Given the description of an element on the screen output the (x, y) to click on. 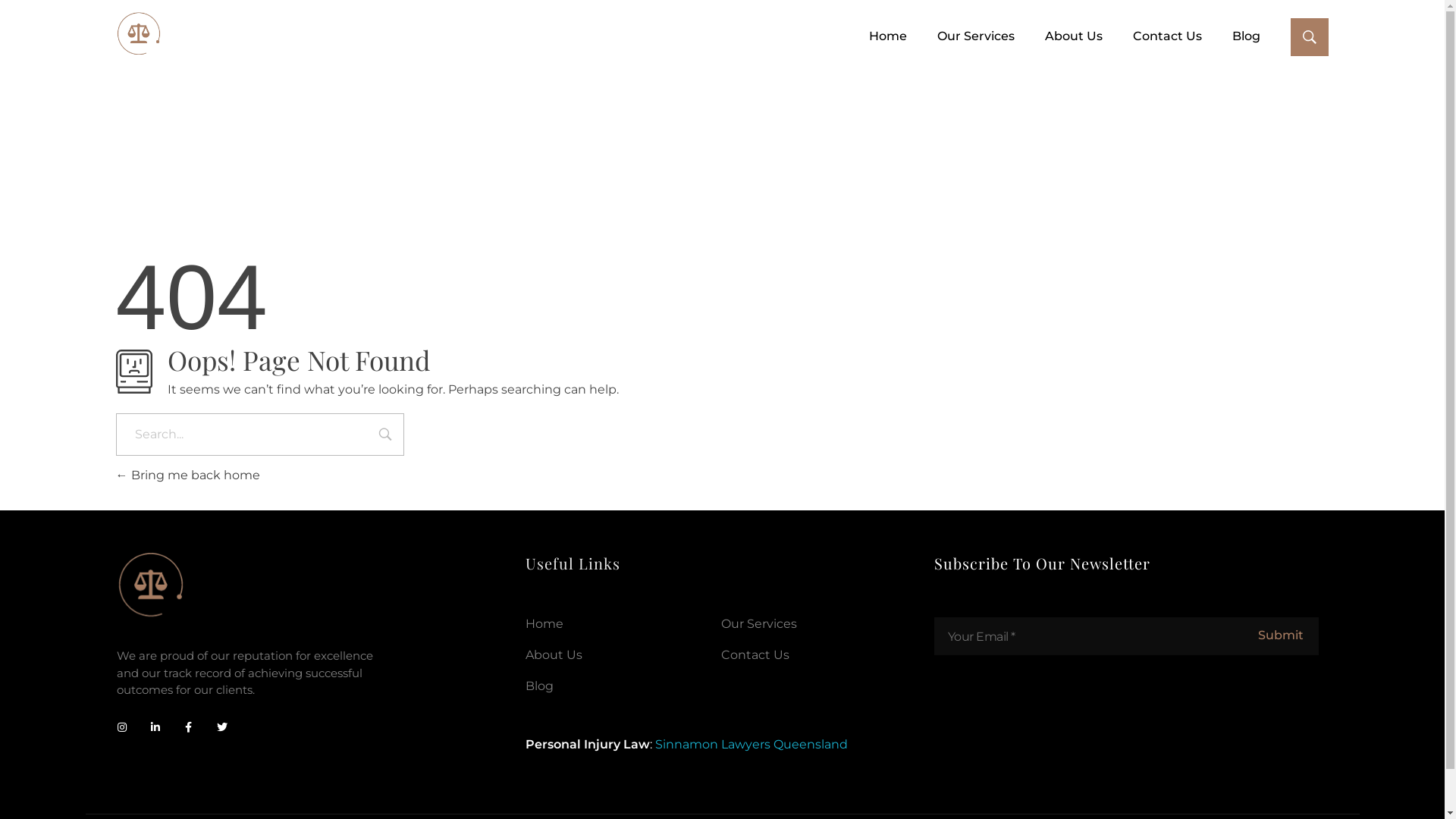
Contact Us Element type: text (755, 654)
Home Element type: text (872, 36)
Search Element type: text (385, 435)
Home Element type: text (544, 623)
Blog Element type: text (1230, 36)
Business and Family Law Element type: text (225, 65)
Business and Family Law Element type: hover (137, 33)
About Us Element type: text (1058, 36)
Our Services Element type: text (759, 623)
Submit Element type: text (1280, 635)
Bring me back home Element type: text (187, 474)
About Us Element type: text (553, 654)
Sinnamon Lawyers Queensland Element type: text (751, 744)
Our Services Element type: text (960, 36)
Contact Us Element type: text (1151, 36)
Blog Element type: text (539, 685)
